Given the description of an element on the screen output the (x, y) to click on. 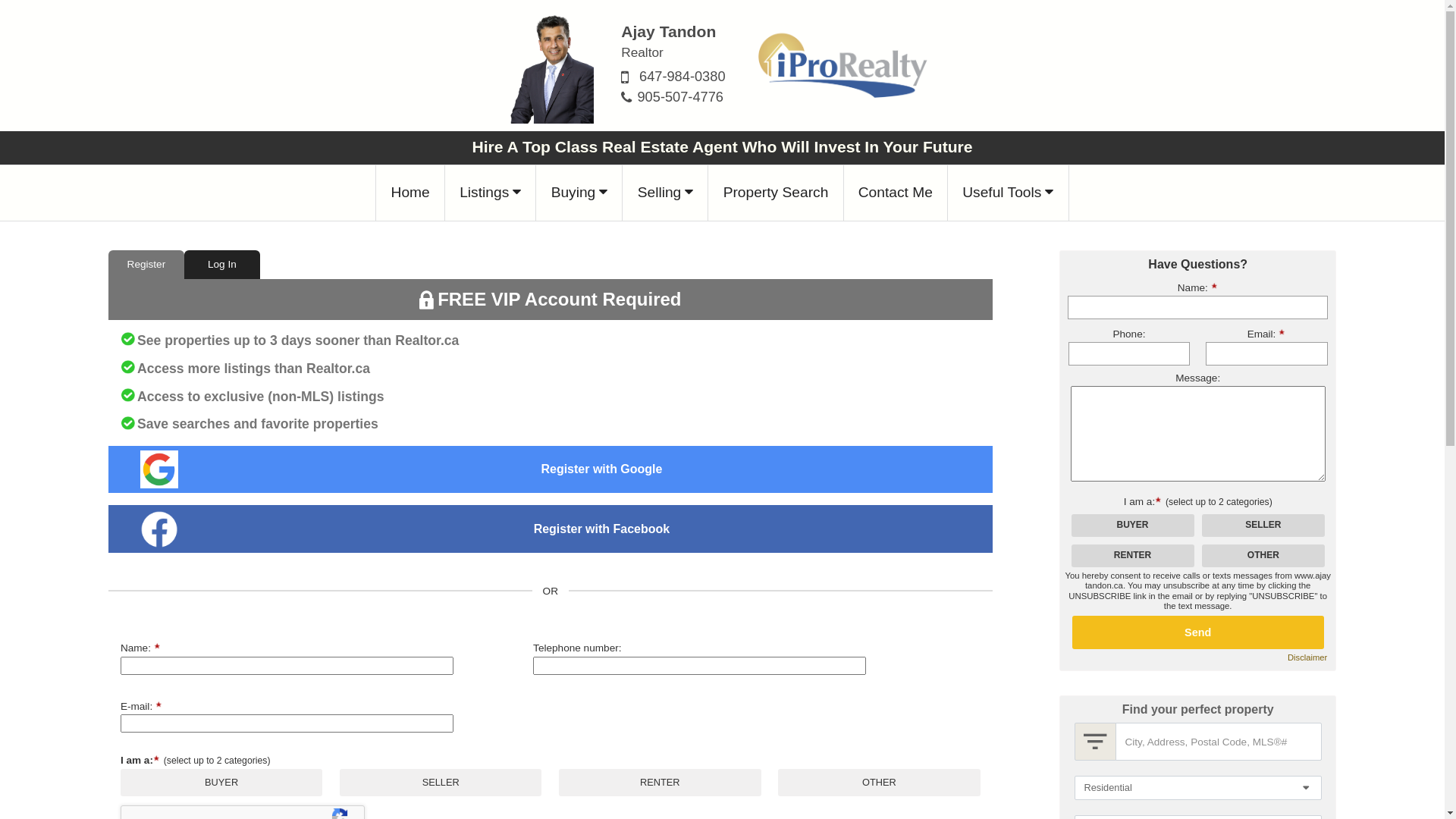
Property Search Element type: text (775, 192)
Home Element type: text (410, 192)
647-984-0380 Element type: text (682, 76)
Register Element type: text (146, 264)
Log In Element type: text (222, 264)
Register with Facebook Element type: text (601, 528)
Listings Element type: text (490, 192)
Useful Tools Element type: text (1008, 192)
Register with Google Element type: text (601, 468)
Send Element type: text (1198, 632)
Buying Element type: text (579, 192)
Contact Me Element type: text (895, 192)
Search by Element type: text (1094, 741)
905-507-4776 Element type: text (680, 96)
Selling Element type: text (665, 192)
BUYER Element type: text (4, 4)
BUYER Element type: text (722, 4)
Residential Element type: text (1197, 787)
Disclaimer Element type: text (1307, 657)
